Given the description of an element on the screen output the (x, y) to click on. 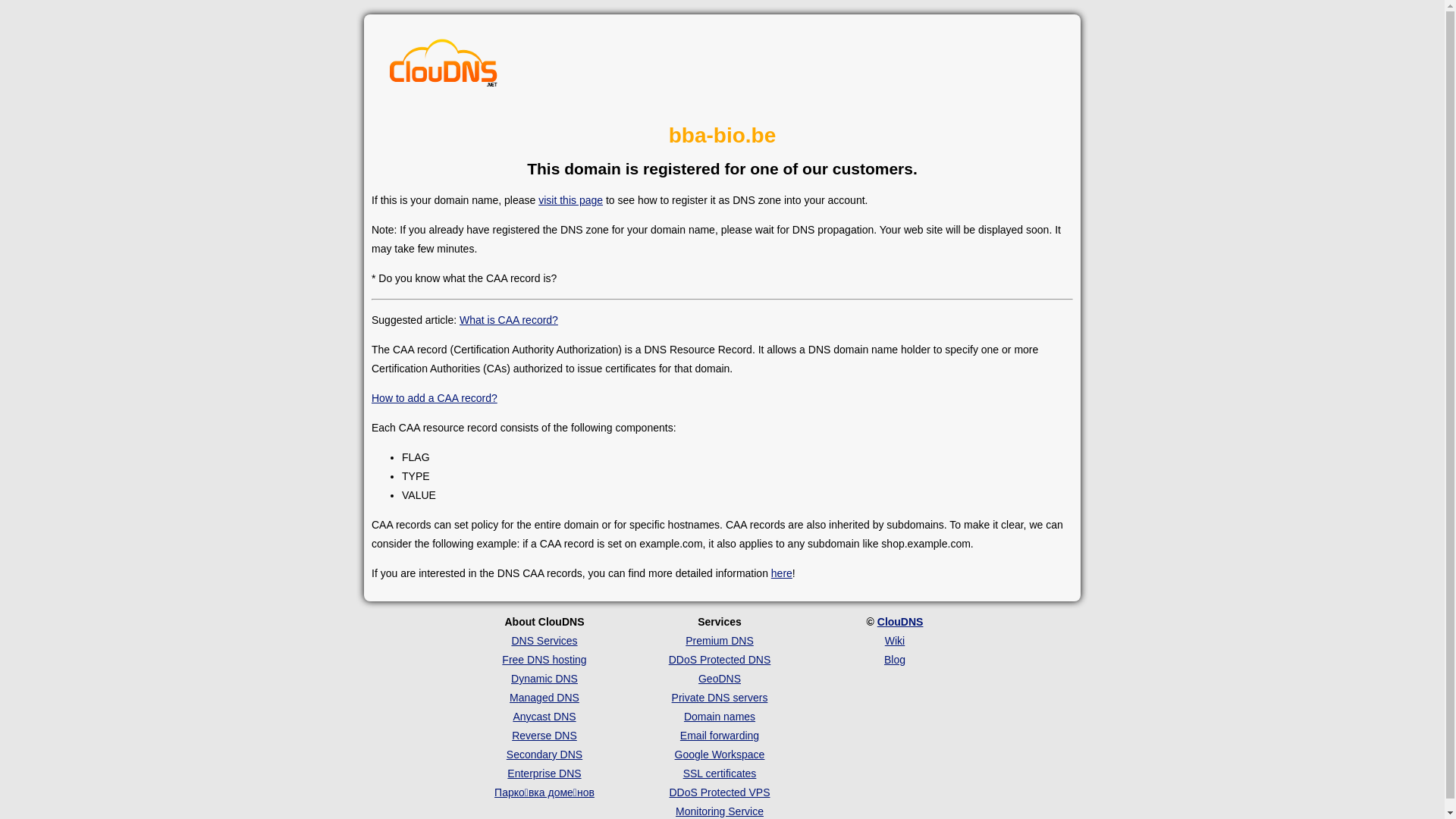
Dynamic DNS Element type: text (544, 678)
Anycast DNS Element type: text (543, 716)
Wiki Element type: text (894, 640)
DNS Services Element type: text (544, 640)
Enterprise DNS Element type: text (543, 773)
Managed DNS Element type: text (544, 697)
Email forwarding Element type: text (719, 735)
Reverse DNS Element type: text (544, 735)
Secondary DNS Element type: text (544, 754)
Domain names Element type: text (719, 716)
here Element type: text (781, 573)
Blog Element type: text (894, 659)
ClouDNS Element type: text (900, 621)
Cloud DNS Element type: hover (443, 66)
DDoS Protected DNS Element type: text (719, 659)
visit this page Element type: text (570, 200)
Premium DNS Element type: text (719, 640)
How to add a CAA record? Element type: text (434, 398)
Private DNS servers Element type: text (719, 697)
DDoS Protected VPS Element type: text (718, 792)
Free DNS hosting Element type: text (544, 659)
GeoDNS Element type: text (719, 678)
Monitoring Service Element type: text (719, 811)
SSL certificates Element type: text (719, 773)
Google Workspace Element type: text (719, 754)
What is CAA record? Element type: text (508, 319)
